Given the description of an element on the screen output the (x, y) to click on. 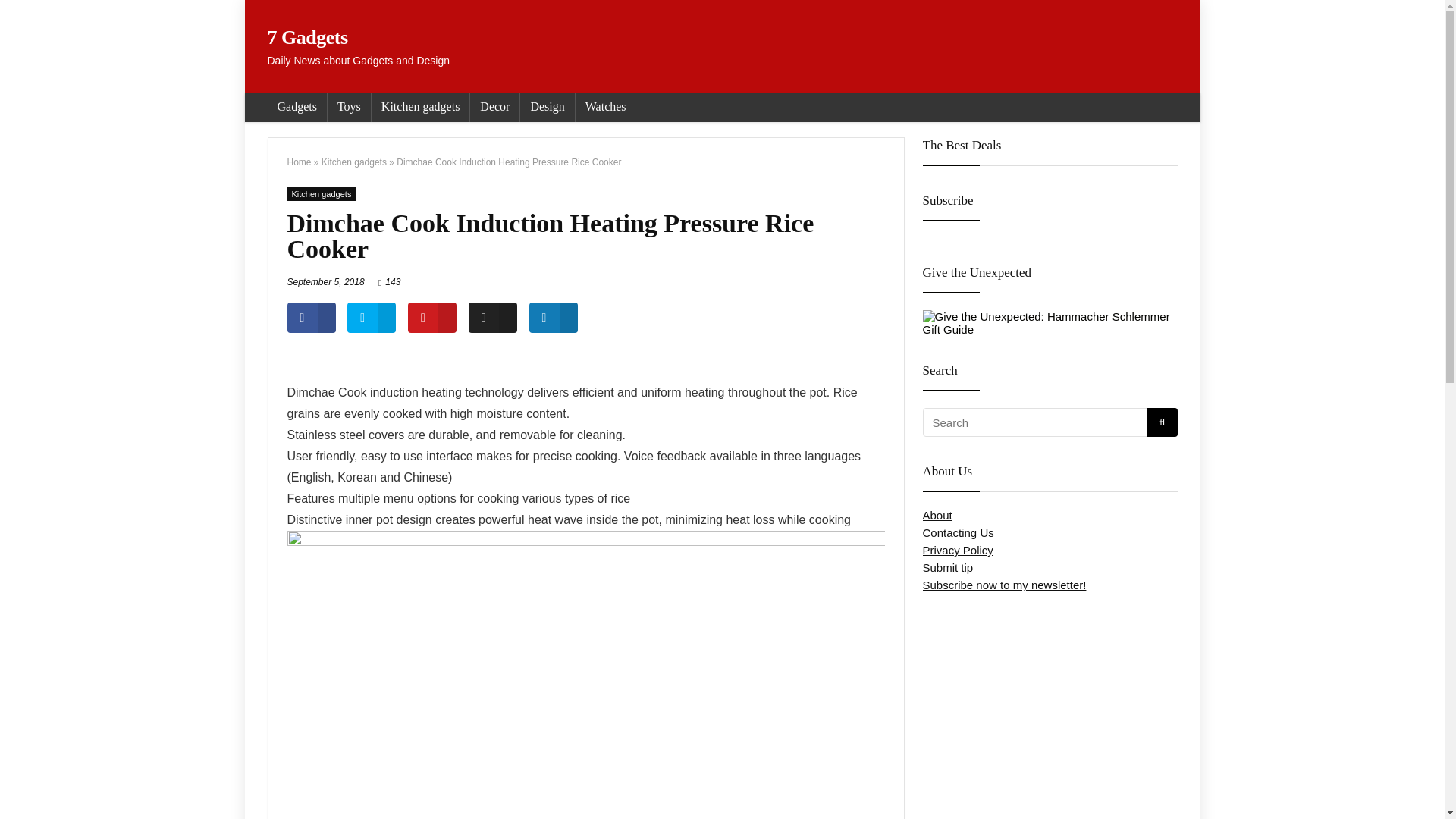
Contacting Us (956, 532)
Kitchen gadgets (354, 162)
Decor (494, 107)
About (936, 514)
Watches (605, 107)
Kitchen gadgets (420, 107)
Toys (349, 107)
Gadgets (296, 107)
Home (298, 162)
Design (546, 107)
Privacy Policy (956, 549)
View all posts in Kitchen gadgets (320, 193)
Kitchen gadgets (320, 193)
